Given the description of an element on the screen output the (x, y) to click on. 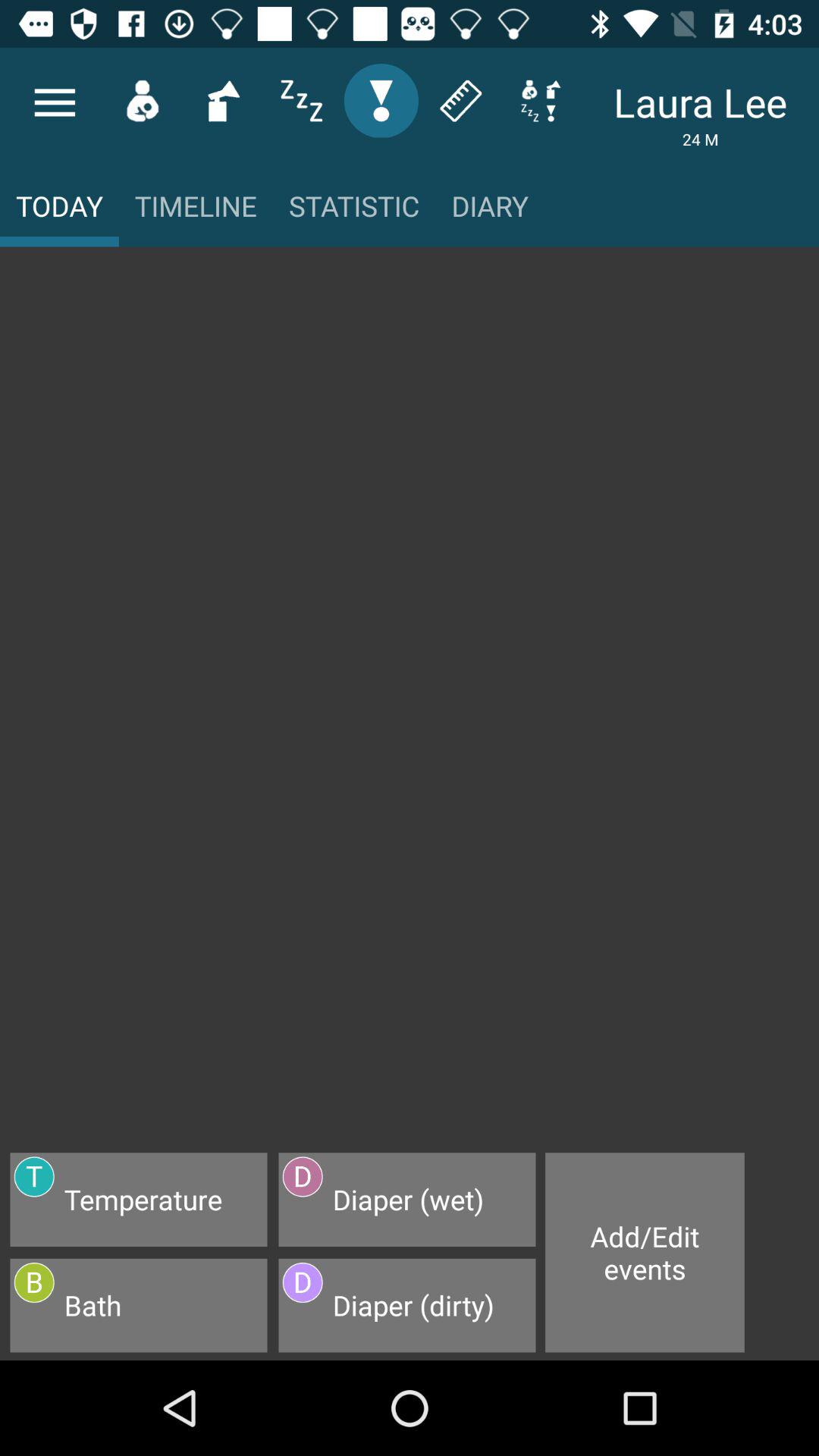
choose icon at the center (409, 707)
